Given the description of an element on the screen output the (x, y) to click on. 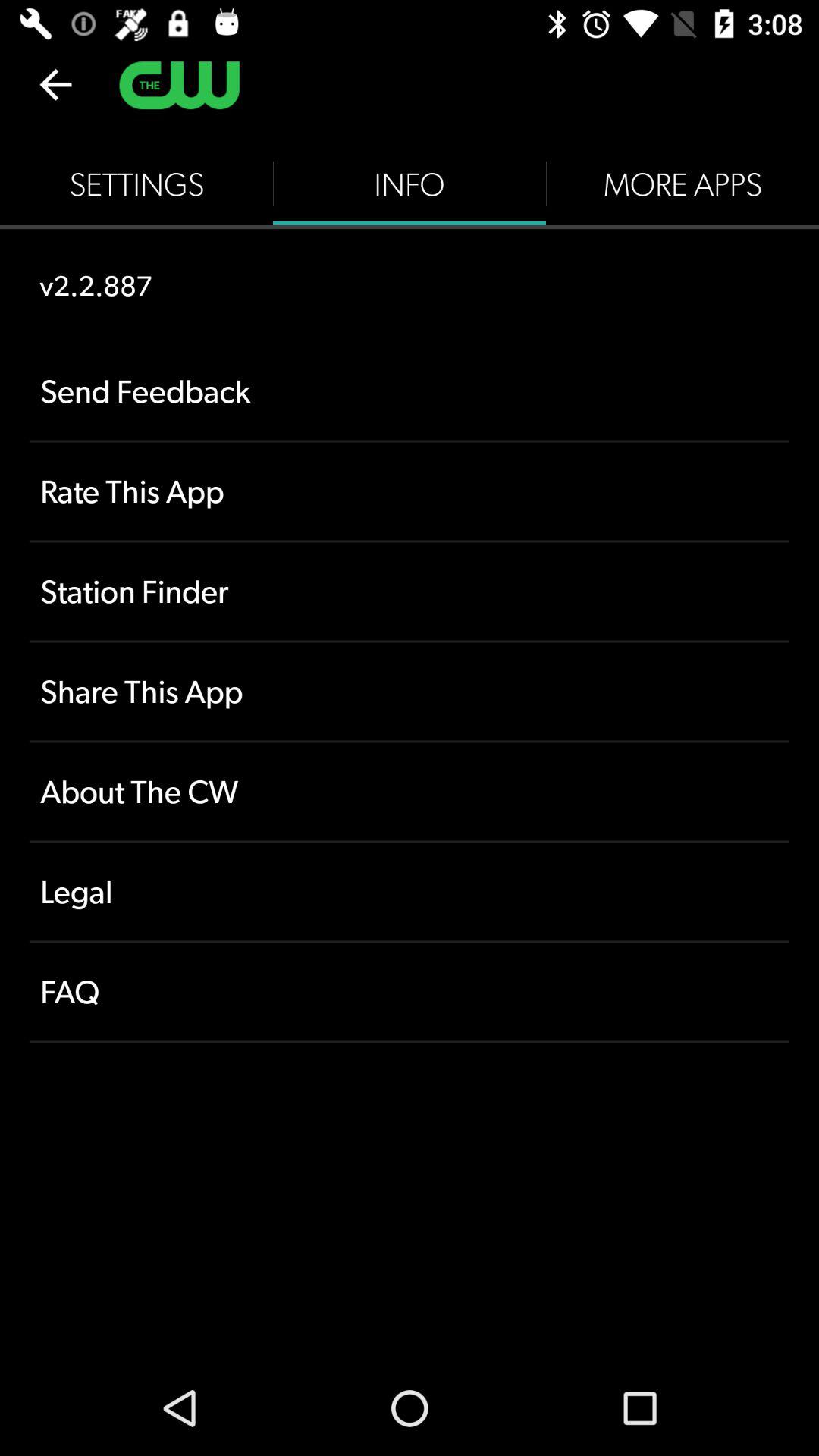
press the icon above the v2.2.887 icon (136, 184)
